Given the description of an element on the screen output the (x, y) to click on. 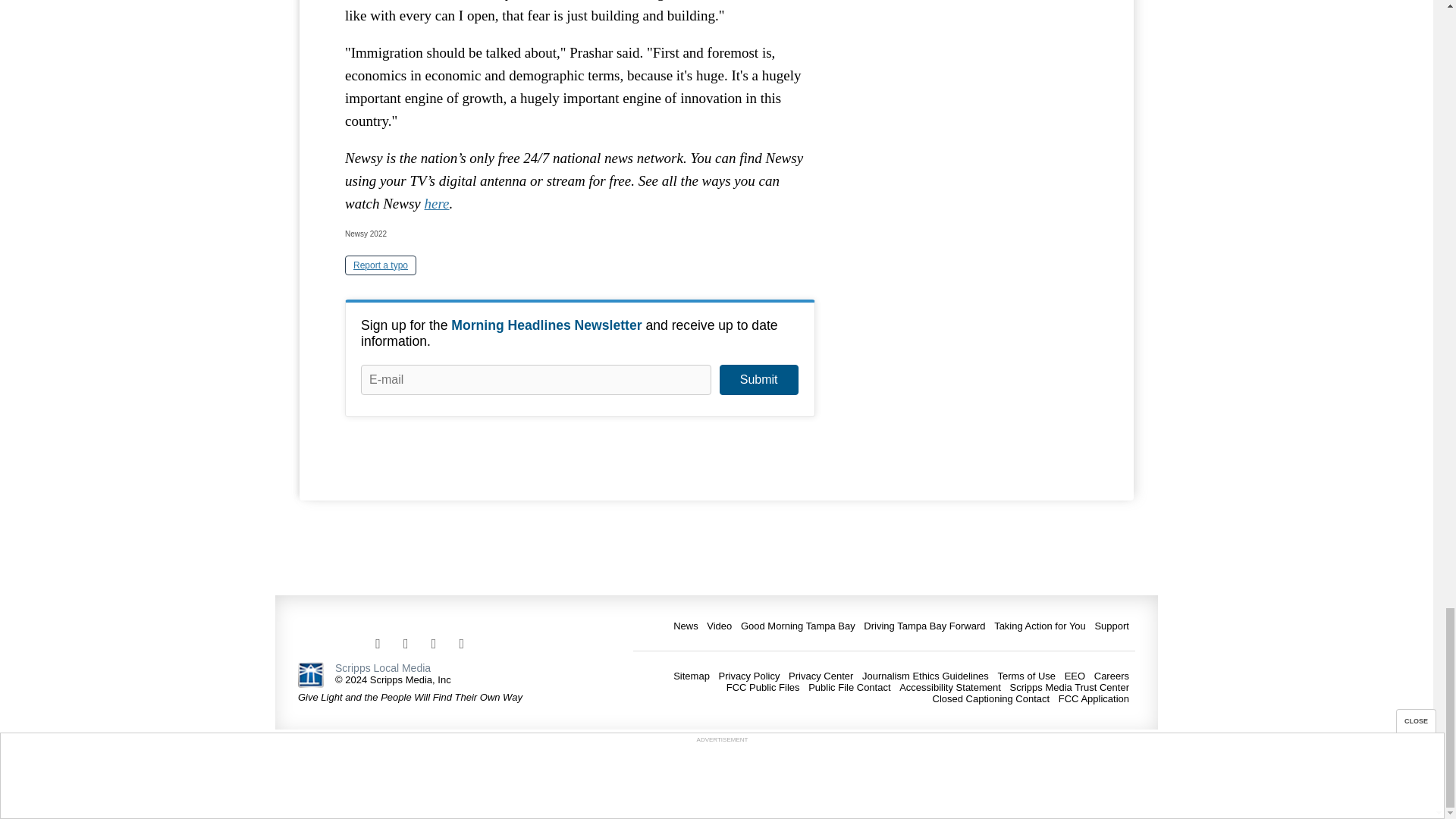
Submit (758, 379)
